Given the description of an element on the screen output the (x, y) to click on. 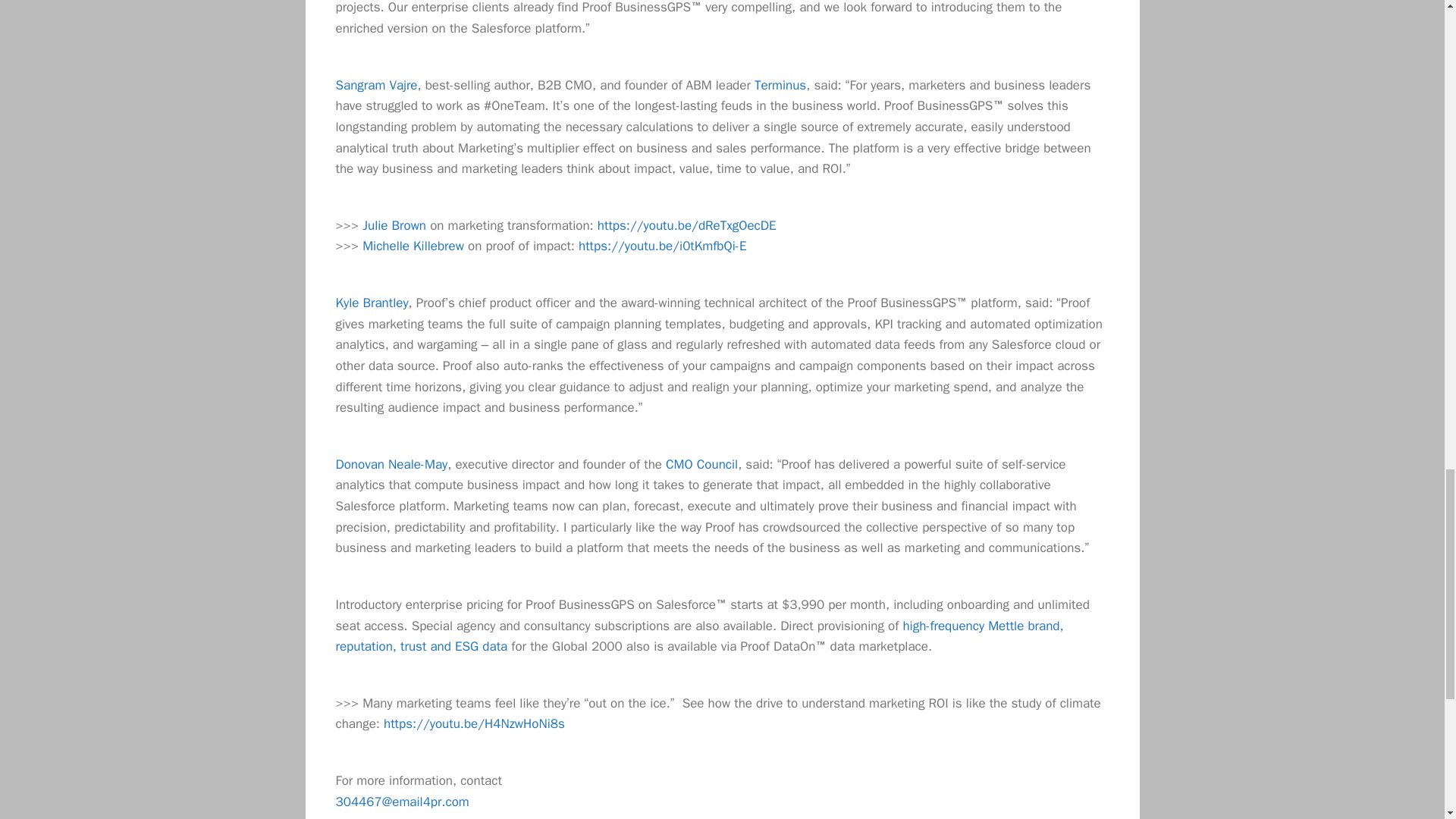
Michelle Killebrew (413, 245)
Terminus (780, 84)
Sangram Vajre (375, 84)
Donovan Neale-May (390, 464)
Julie Brown (394, 225)
CMO Council (701, 464)
high-frequency Mettle brand, reputation, trust and ESG data (698, 636)
Kyle Brantley (370, 302)
